Given the description of an element on the screen output the (x, y) to click on. 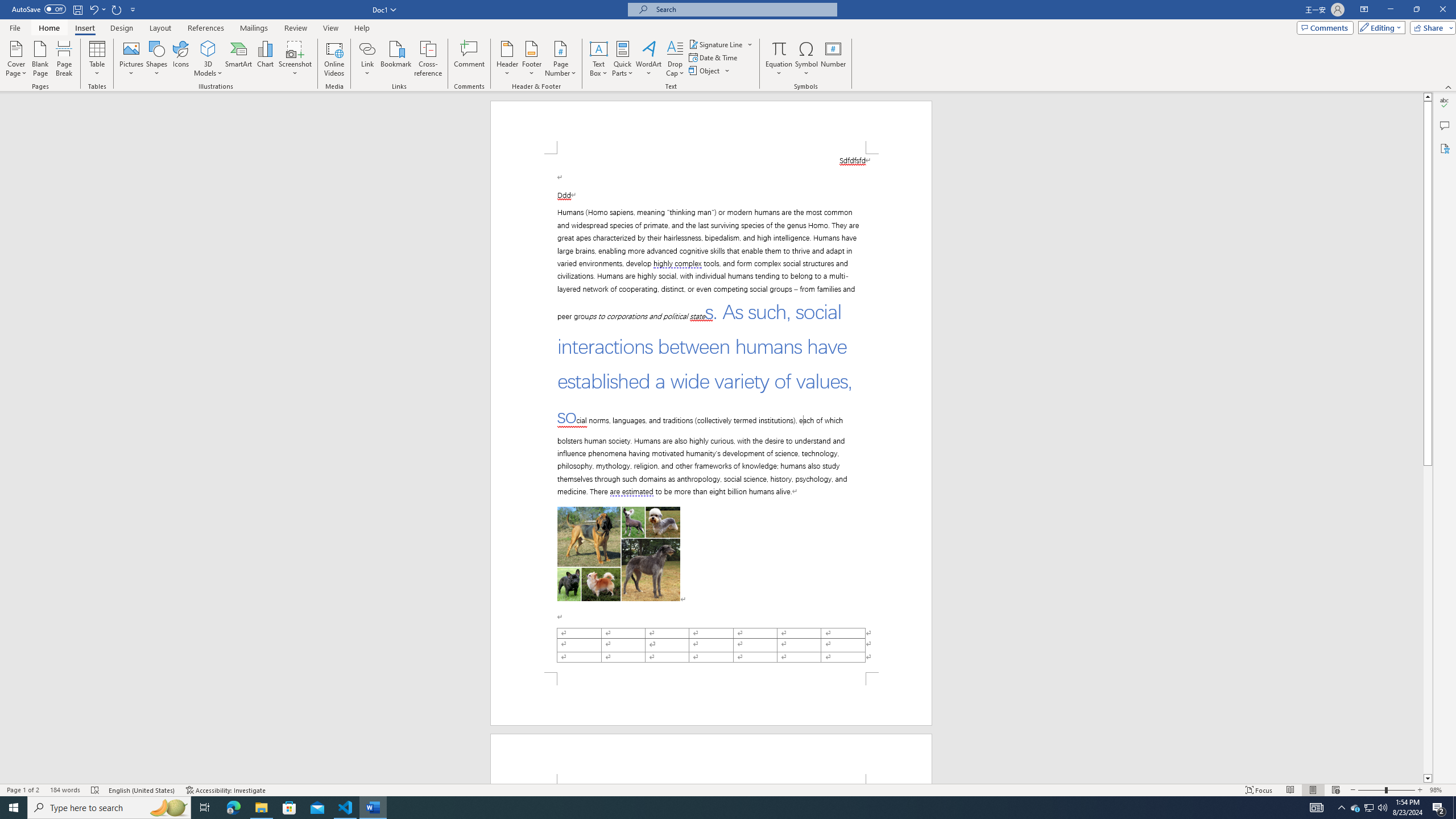
SmartArt... (238, 58)
Pictures (131, 58)
Page Number (560, 58)
Page 1 content (710, 412)
Header (507, 58)
Zoom (1386, 790)
Undo Apply Quick Style Set (92, 9)
Footer (531, 58)
Link (367, 48)
Cross-reference... (428, 58)
